Given the description of an element on the screen output the (x, y) to click on. 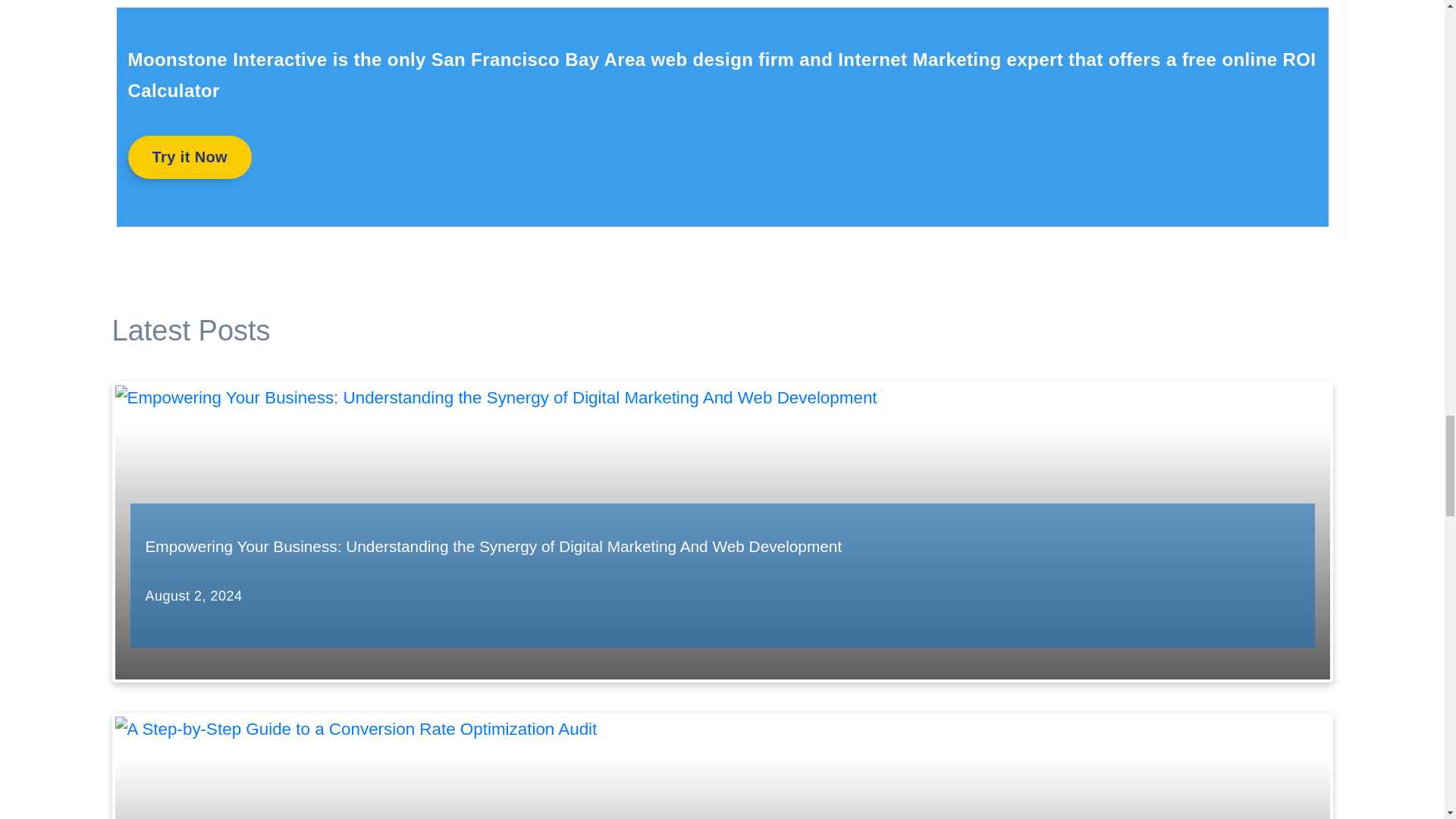
Try it Now (189, 156)
